Given the description of an element on the screen output the (x, y) to click on. 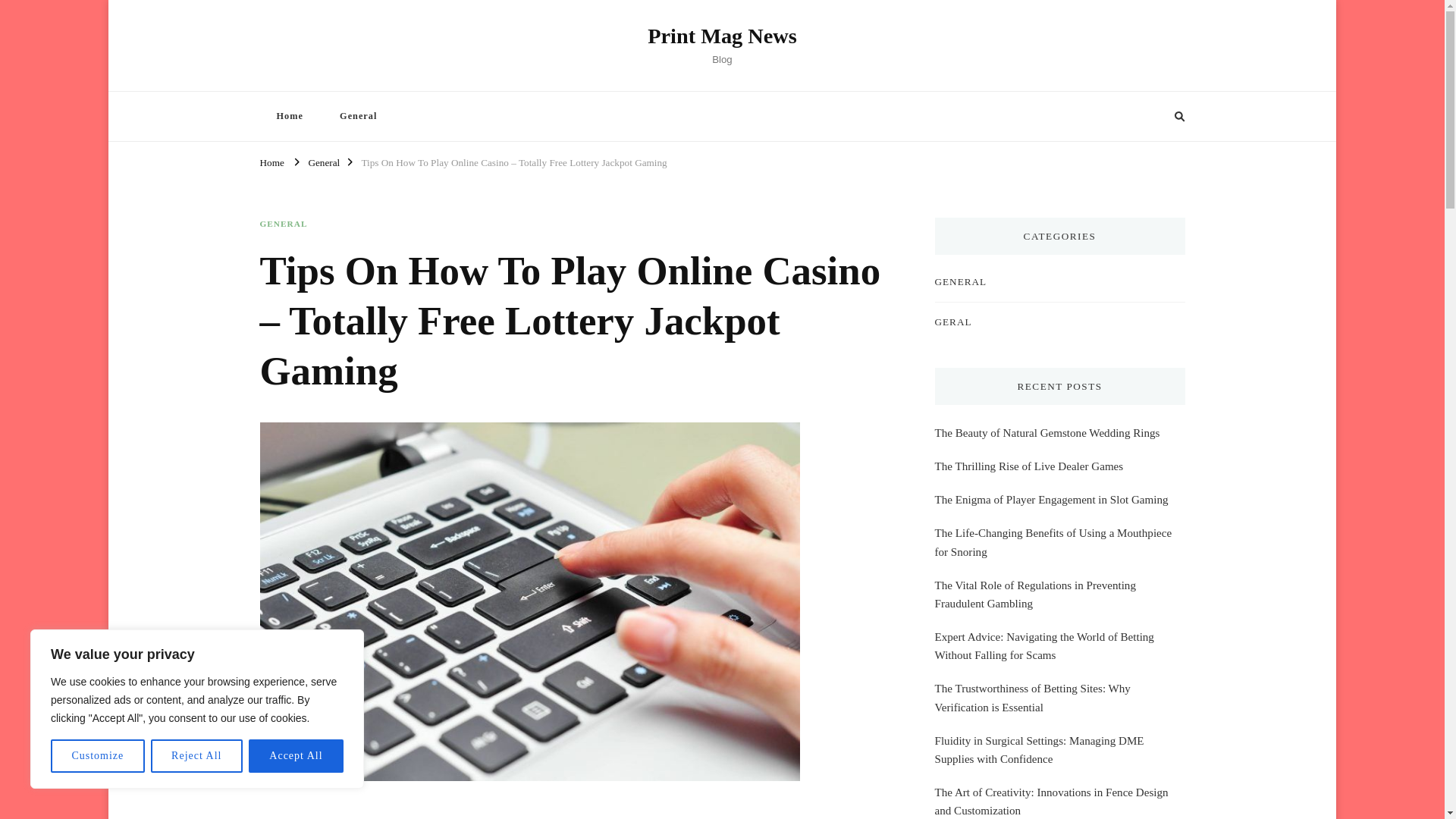
Accept All (295, 756)
Home (271, 161)
Reject All (197, 756)
GENERAL (283, 223)
Customize (97, 756)
General (358, 115)
Home (288, 115)
General (323, 161)
Print Mag News (721, 35)
